Given the description of an element on the screen output the (x, y) to click on. 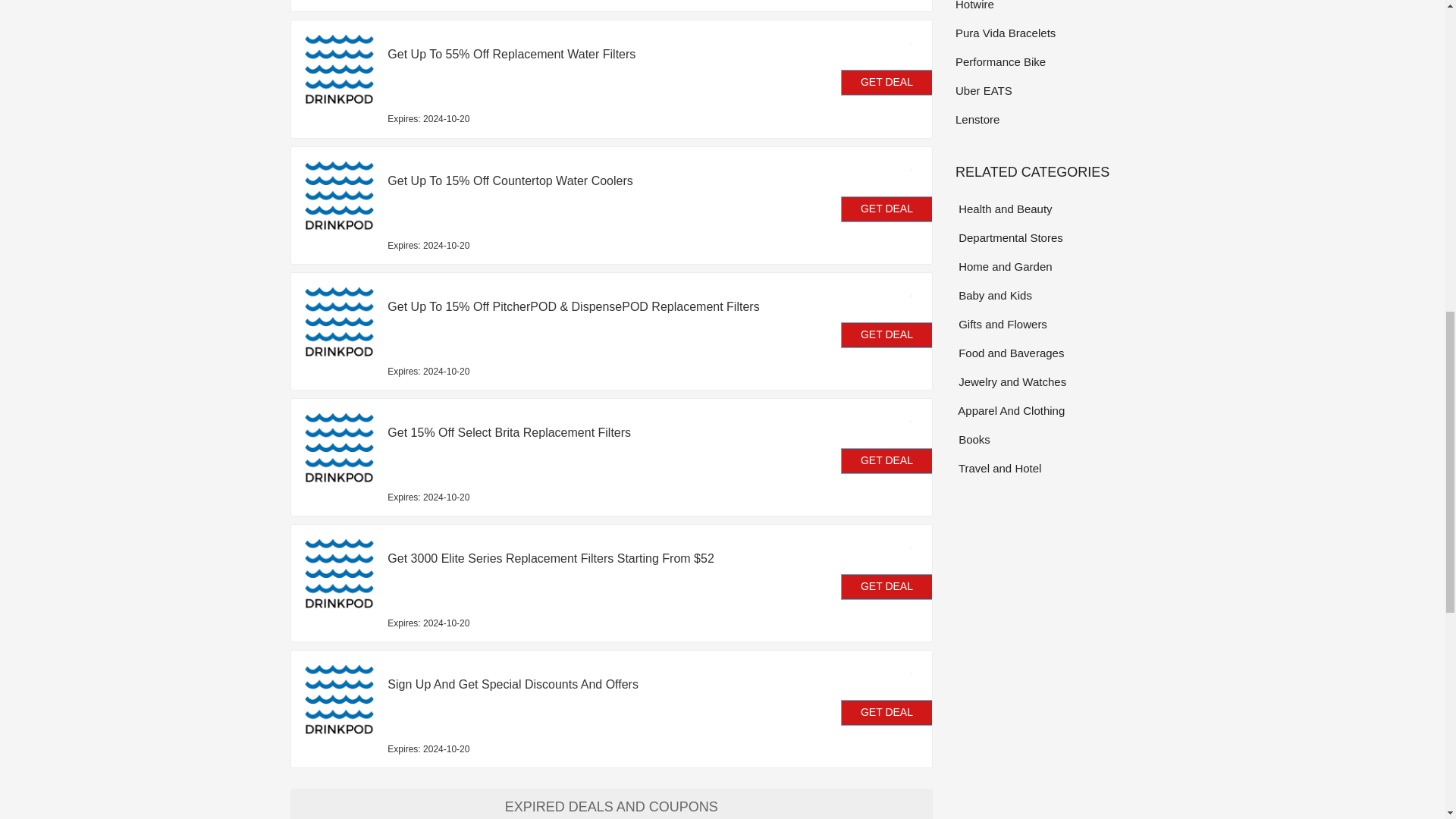
GET DEAL (887, 460)
Uber EATS (1054, 90)
GET DEAL (887, 586)
GET DEAL (887, 82)
GET DEAL (887, 335)
GET DEAL (887, 208)
GET DEAL (887, 712)
Hotwire (1054, 6)
Performance Bike (1054, 61)
Sign Up And Get Special Discounts And Offers (576, 684)
